Given the description of an element on the screen output the (x, y) to click on. 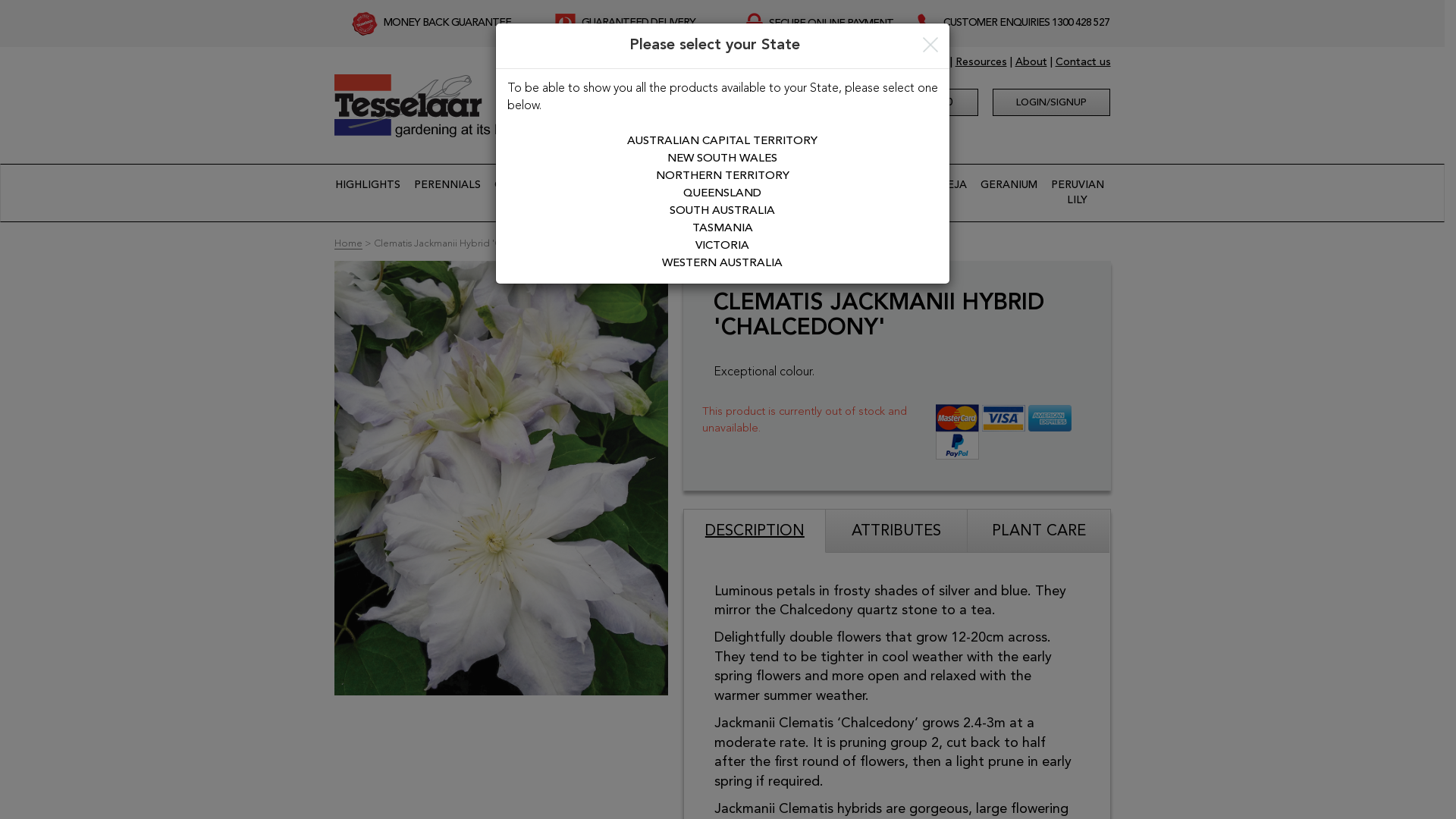
PLANT CARE Element type: text (1038, 530)
Quick Order Element type: text (915, 61)
ORCHIDS Element type: text (518, 185)
PERUVIAN LILY Element type: text (1077, 192)
HIGHLIGHTS Element type: text (367, 185)
BULBS Element type: text (640, 185)
AGAPANTHUS Element type: text (861, 185)
CUTTINGS Element type: text (582, 185)
ATTRIBUTES Element type: text (896, 530)
Why choose us? Element type: text (836, 61)
BUDDLEJA Element type: text (938, 185)
Home Element type: text (347, 243)
Change Element type: text (745, 121)
GERANIUM Element type: text (1007, 185)
About Element type: text (1030, 61)
LOGIN/SIGNUP Element type: text (1051, 102)
COLLECTIBLES Element type: text (709, 185)
1300 428 527 Element type: text (1080, 22)
WINTER ROSES Element type: text (787, 192)
Resources Element type: text (981, 61)
( 0 ) VIEW CART $0.00 Element type: text (883, 102)
DESCRIPTION Element type: text (754, 530)
Contact us Element type: text (1082, 61)
PERENNIALS Element type: text (447, 185)
